Given the description of an element on the screen output the (x, y) to click on. 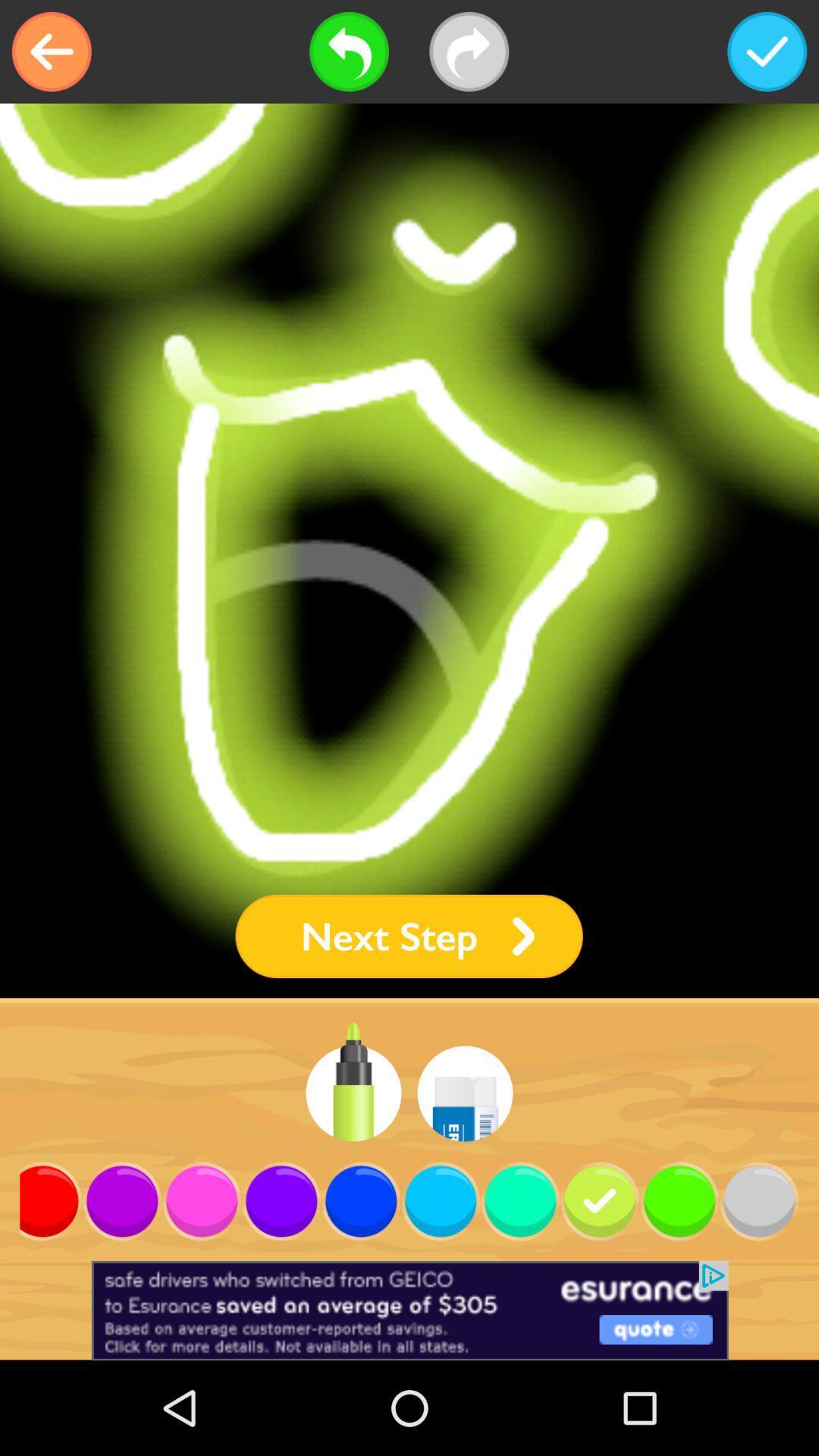
back (51, 51)
